Given the description of an element on the screen output the (x, y) to click on. 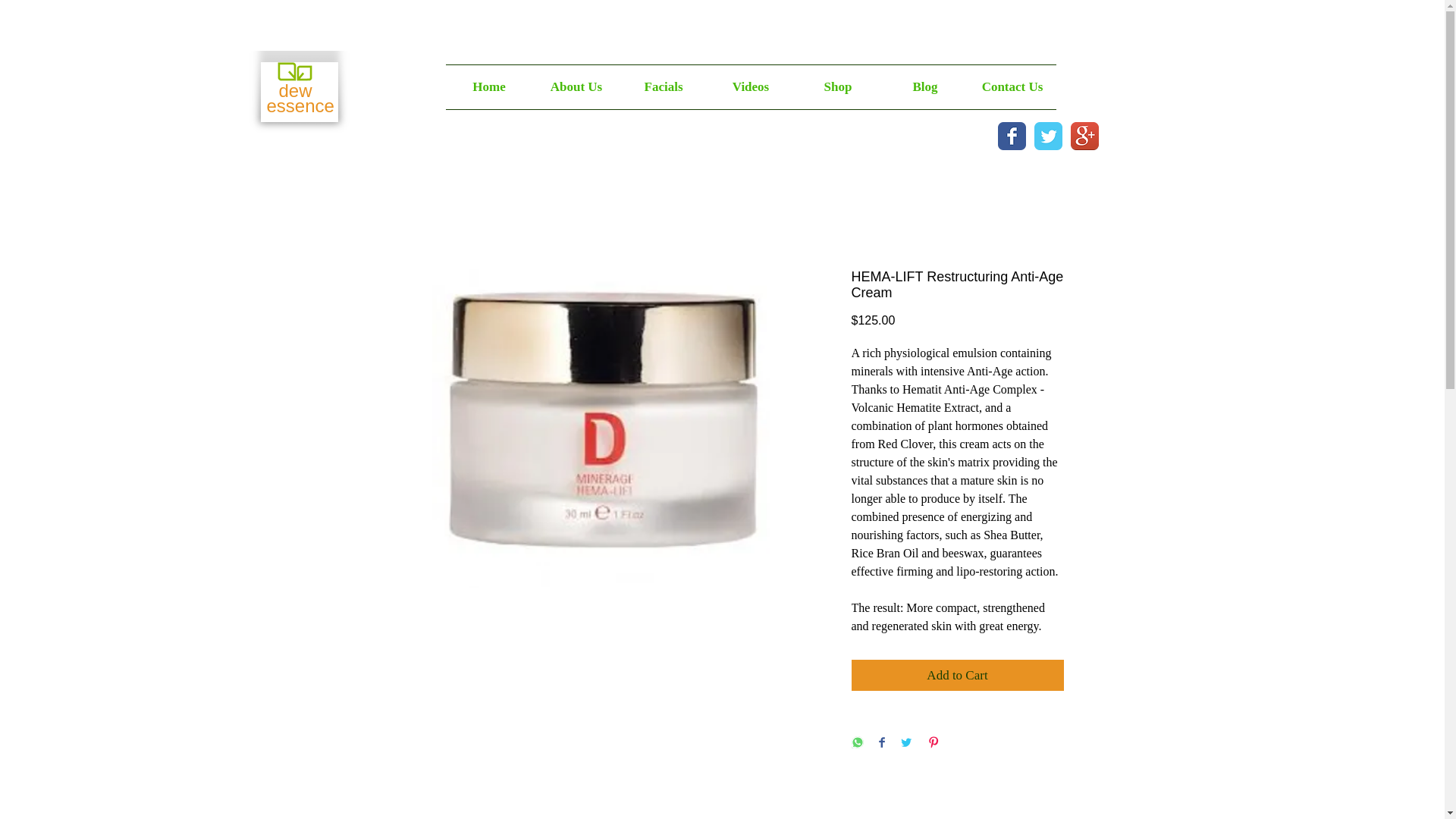
Blog (924, 86)
Add to Cart (956, 675)
Videos (749, 86)
Facials (663, 86)
Contact Us (1013, 86)
Home (488, 86)
Shop (838, 86)
About Us (576, 86)
